Given the description of an element on the screen output the (x, y) to click on. 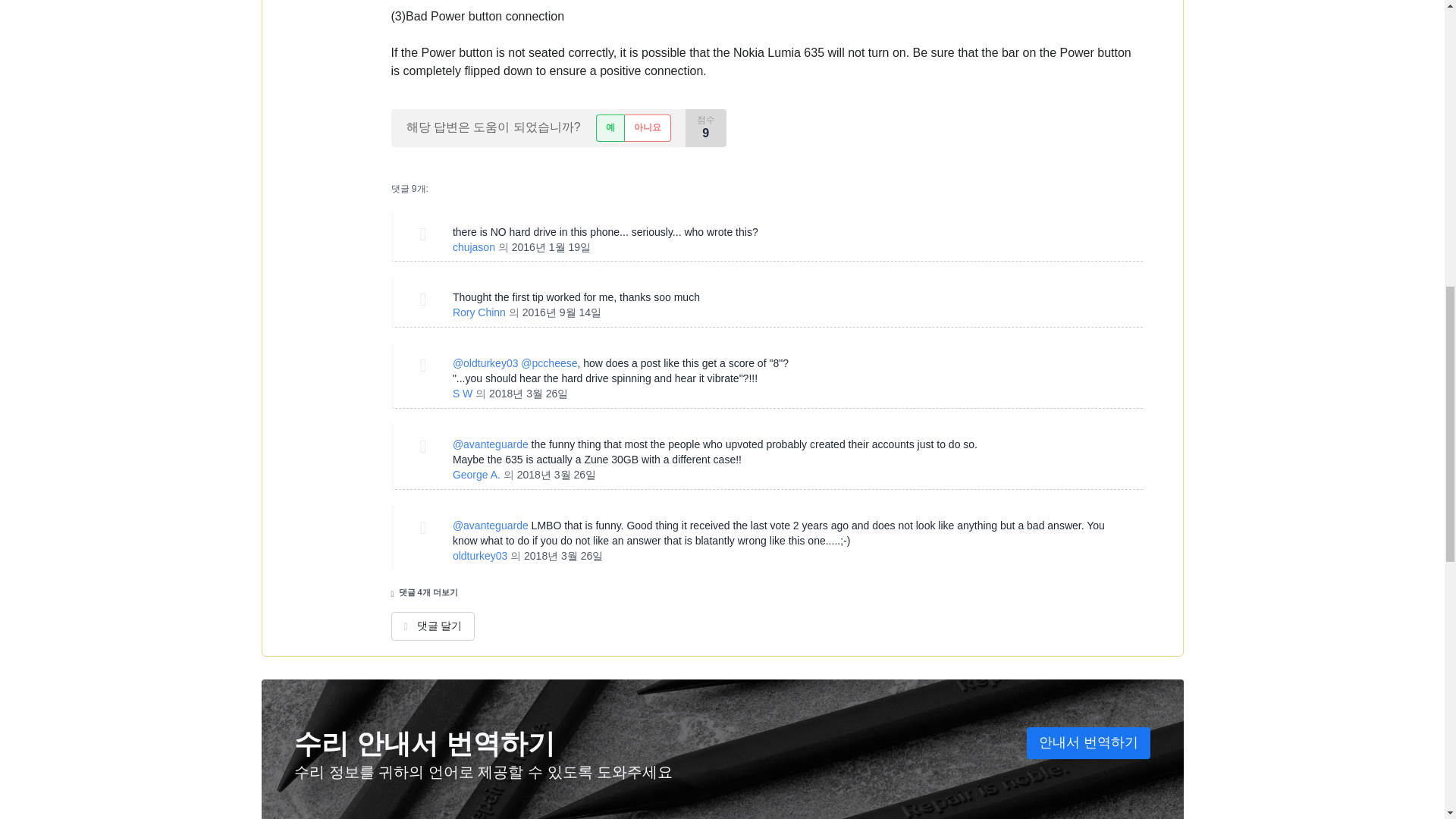
Tue, 19 Jan 2016 18:37:22 -0700 (551, 246)
Mon, 26 Mar 2018 18:06:29 -0700 (563, 555)
Wed, 14 Sep 2016 21:45:01 -0700 (561, 312)
Mon, 26 Mar 2018 08:47:06 -0700 (528, 393)
Mon, 26 Mar 2018 10:32:09 -0700 (555, 474)
